Given the description of an element on the screen output the (x, y) to click on. 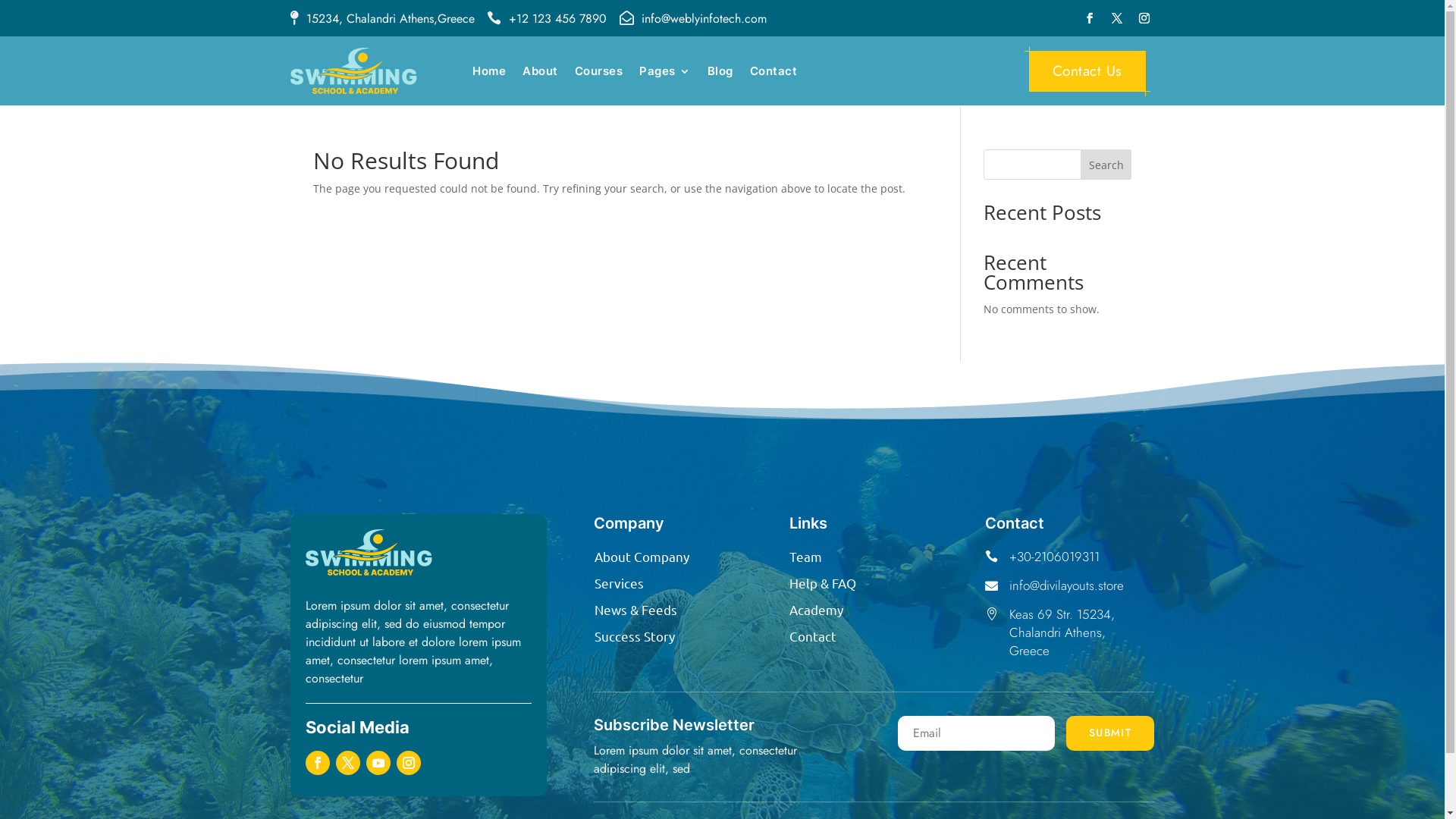
Follow on X Element type: hover (347, 762)
Team Element type: text (805, 556)
Contact Element type: text (773, 73)
Services Element type: text (618, 582)
info@divilayouts.store Element type: text (1066, 585)
swiming-logo Element type: hover (367, 552)
info@weblyinfotech.com Element type: text (703, 18)
Success Story Element type: text (634, 635)
swiming-logo Element type: hover (352, 70)
Follow on Instagram Element type: hover (407, 762)
SUBMIT Element type: text (1110, 732)
Blog Element type: text (720, 73)
Academy Element type: text (816, 609)
Courses Element type: text (598, 73)
Help & FAQ Element type: text (822, 582)
Follow on Facebook Element type: hover (316, 762)
Follow on Facebook Element type: hover (1088, 17)
Home Element type: text (488, 73)
Follow on Youtube Element type: hover (377, 762)
About Company Element type: text (641, 556)
Search Element type: text (1106, 164)
About Element type: text (540, 73)
News & Feeds Element type: text (635, 609)
Contact Us Element type: text (1087, 70)
Follow on X Element type: hover (1115, 17)
Contact Element type: text (812, 635)
Follow on Instagram Element type: hover (1143, 17)
Keas 69 Str. 15234, Chalandri Athens, Greece Element type: text (1061, 632)
Pages Element type: text (664, 73)
